Given the description of an element on the screen output the (x, y) to click on. 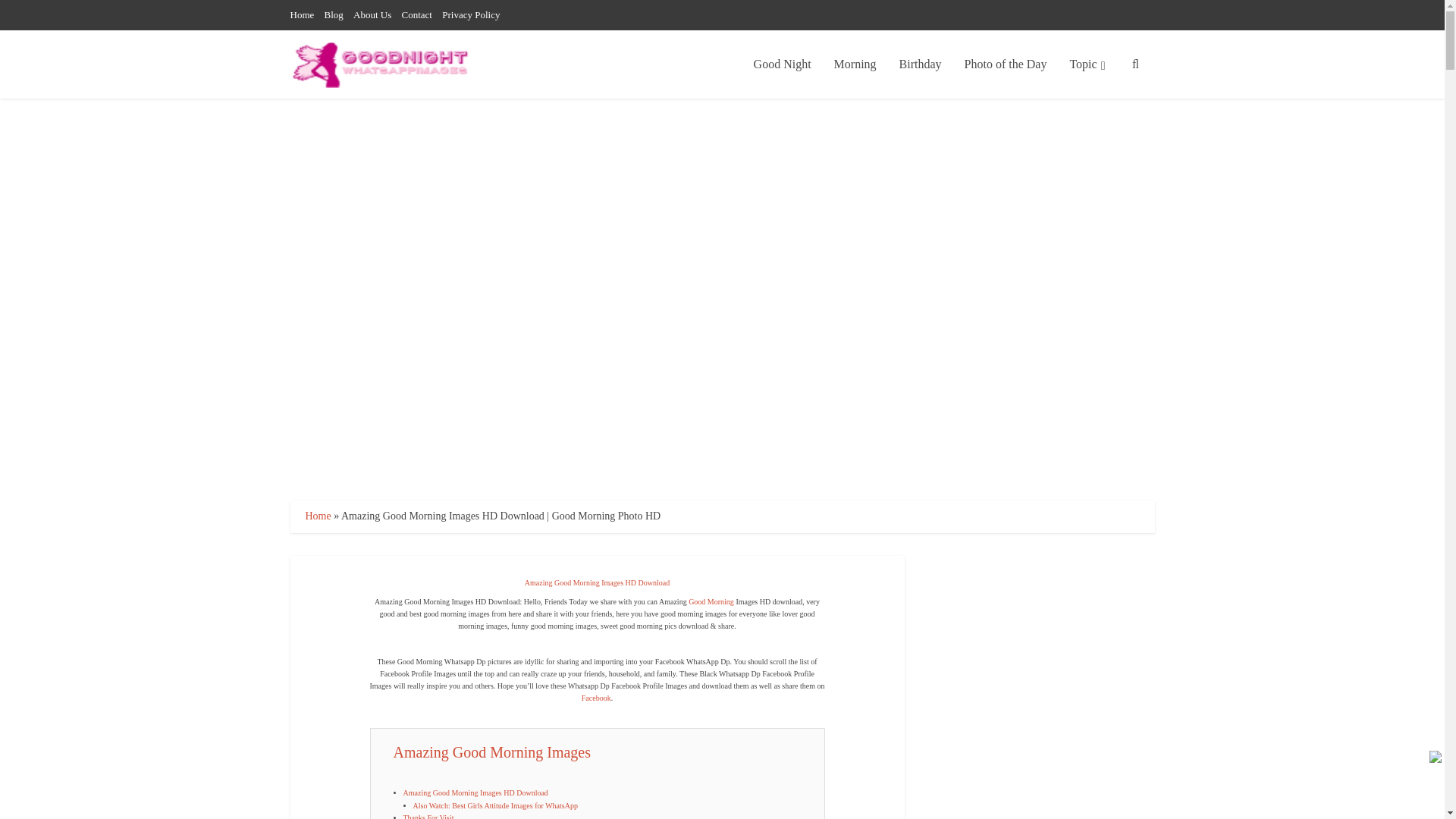
Privacy Policy (470, 14)
Blog (333, 14)
Home (301, 14)
About Us (372, 14)
Contact (416, 14)
Morning (855, 64)
Photo of the Day (1005, 64)
Birthday (920, 64)
Good Night (782, 64)
